Given the description of an element on the screen output the (x, y) to click on. 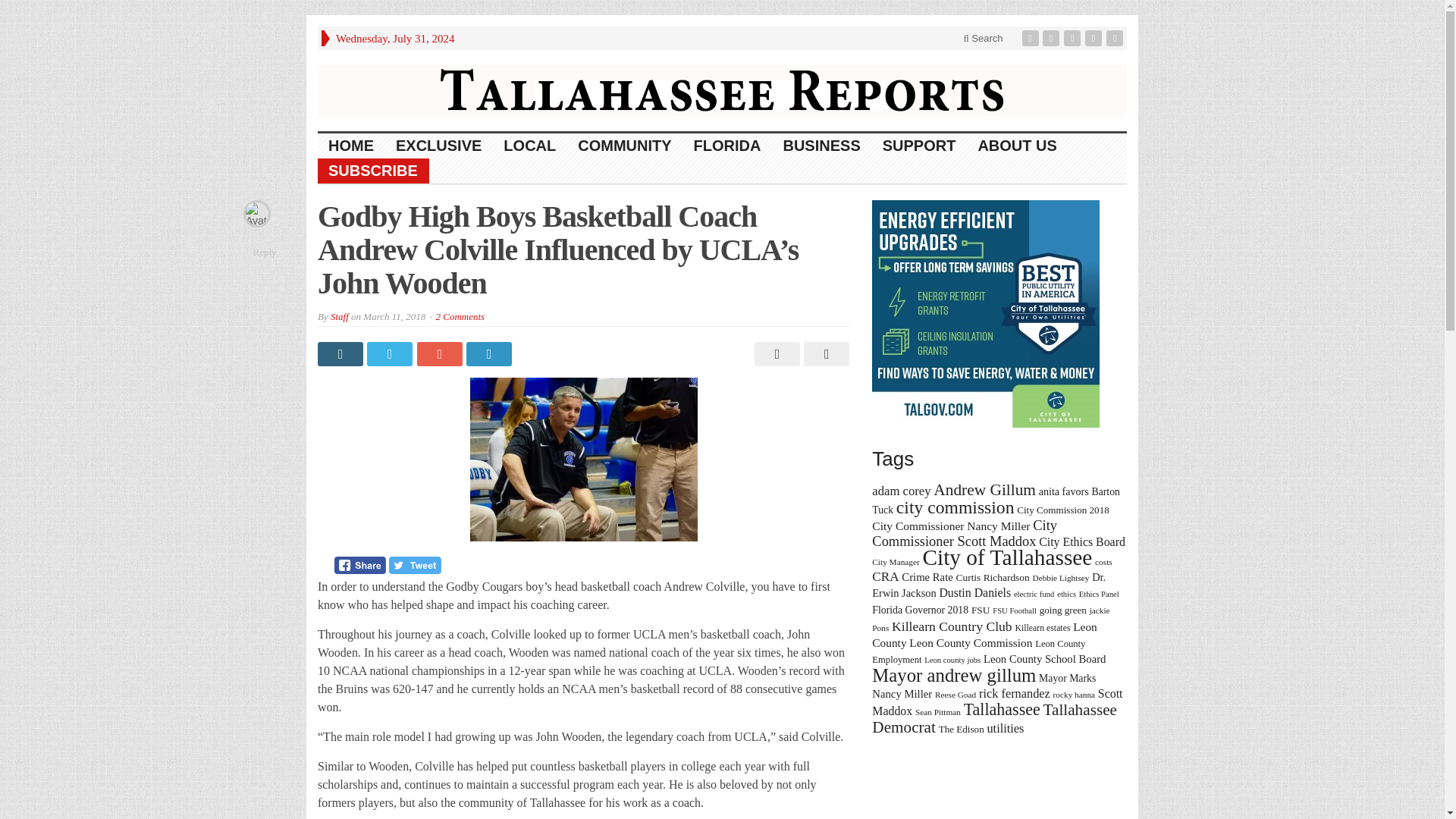
COMMUNITY (624, 145)
FLORIDA (727, 145)
Twitter (1052, 37)
Online News (721, 90)
Search (982, 37)
ABOUT US (1016, 145)
SUPPORT (920, 145)
HOME (351, 145)
Youtube (1094, 37)
EXCLUSIVE (439, 145)
Site feed (1115, 37)
SUBSCRIBE (373, 170)
Facebook (1032, 37)
LOCAL (530, 145)
BUSINESS (820, 145)
